Given the description of an element on the screen output the (x, y) to click on. 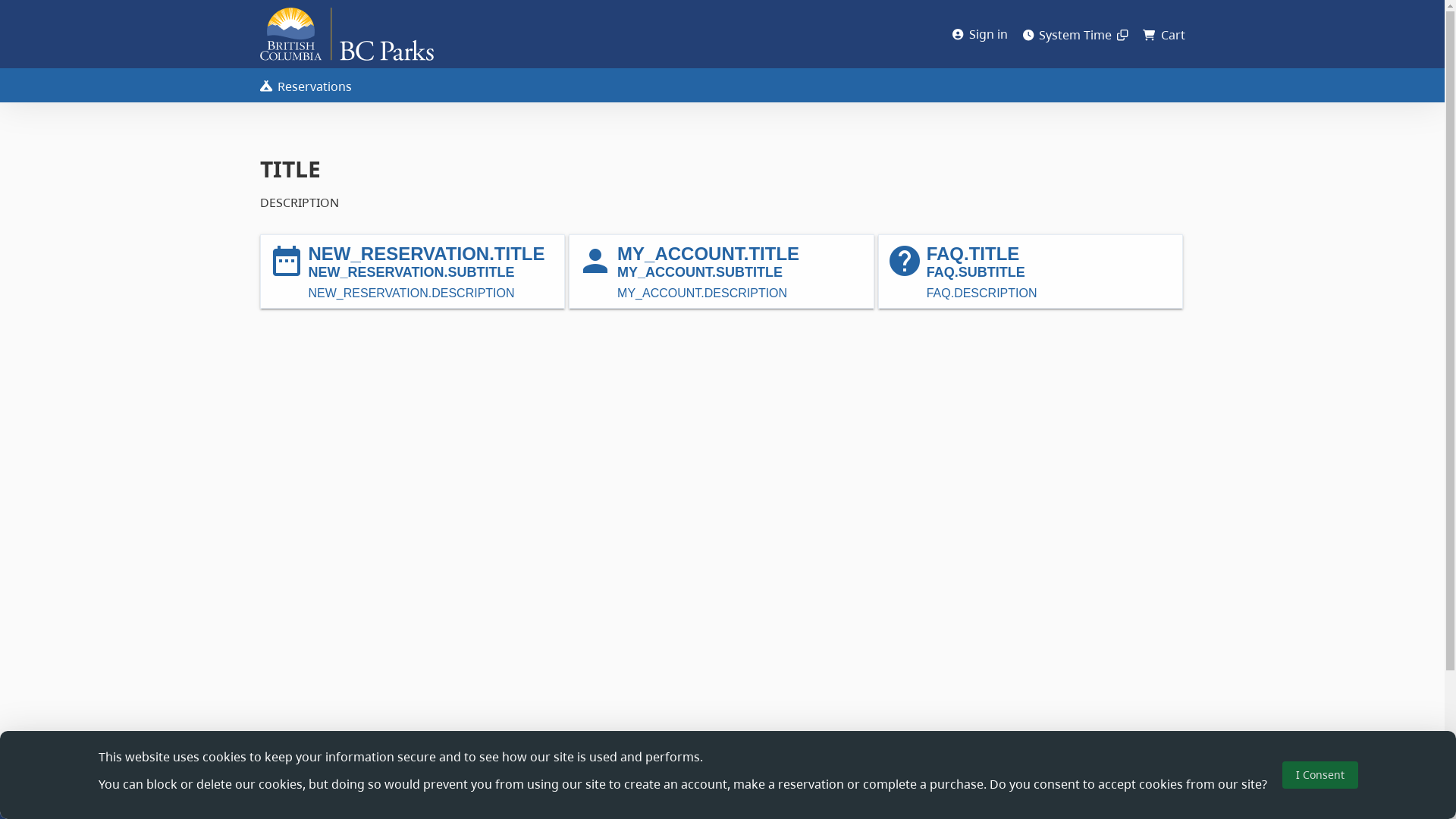
System Time Element type: text (1075, 34)
Reservations Element type: text (304, 86)
Sign in Element type: text (979, 33)
help
FAQ.TITLE
FAQ.SUBTITLE
FAQ.DESCRIPTION Element type: text (1030, 271)
I Consent Element type: text (1319, 774)
Cart Element type: text (1163, 34)
